Given the description of an element on the screen output the (x, y) to click on. 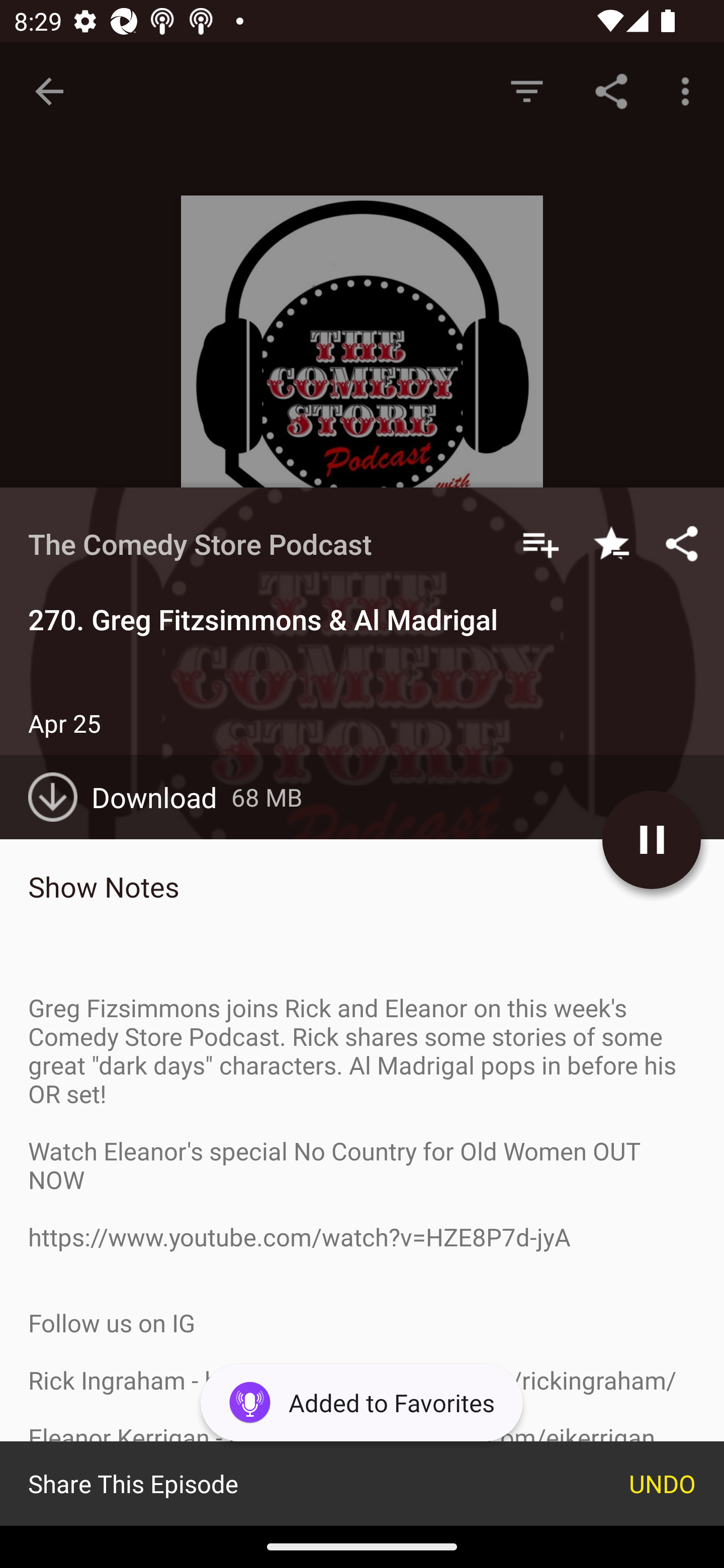
Share This Episode (300, 1482)
UNDO (662, 1482)
